Given the description of an element on the screen output the (x, y) to click on. 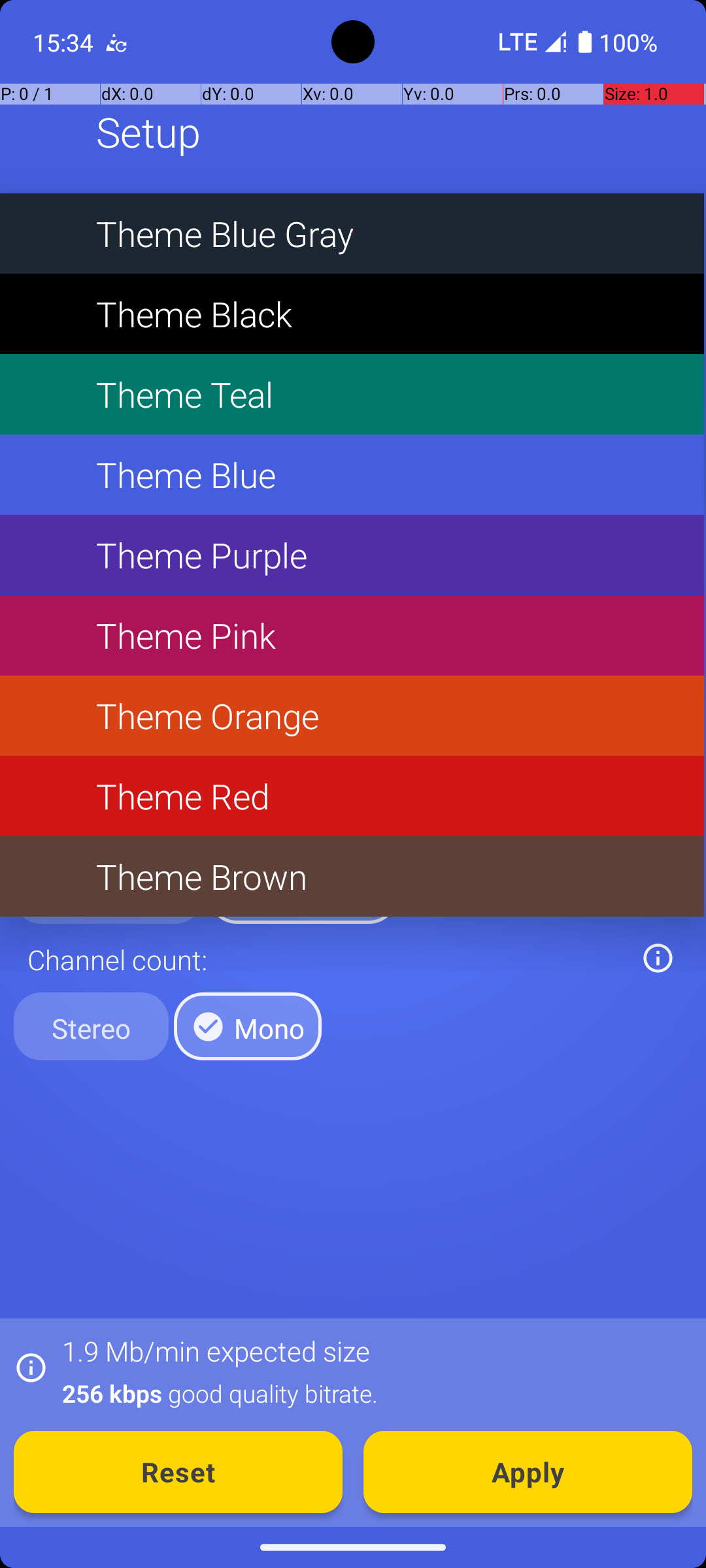
Theme Black Element type: android.widget.TextView (352, 313)
Theme Pink Element type: android.widget.TextView (352, 635)
Theme Orange Element type: android.widget.TextView (352, 715)
Theme Brown Element type: android.widget.TextView (352, 876)
